Given the description of an element on the screen output the (x, y) to click on. 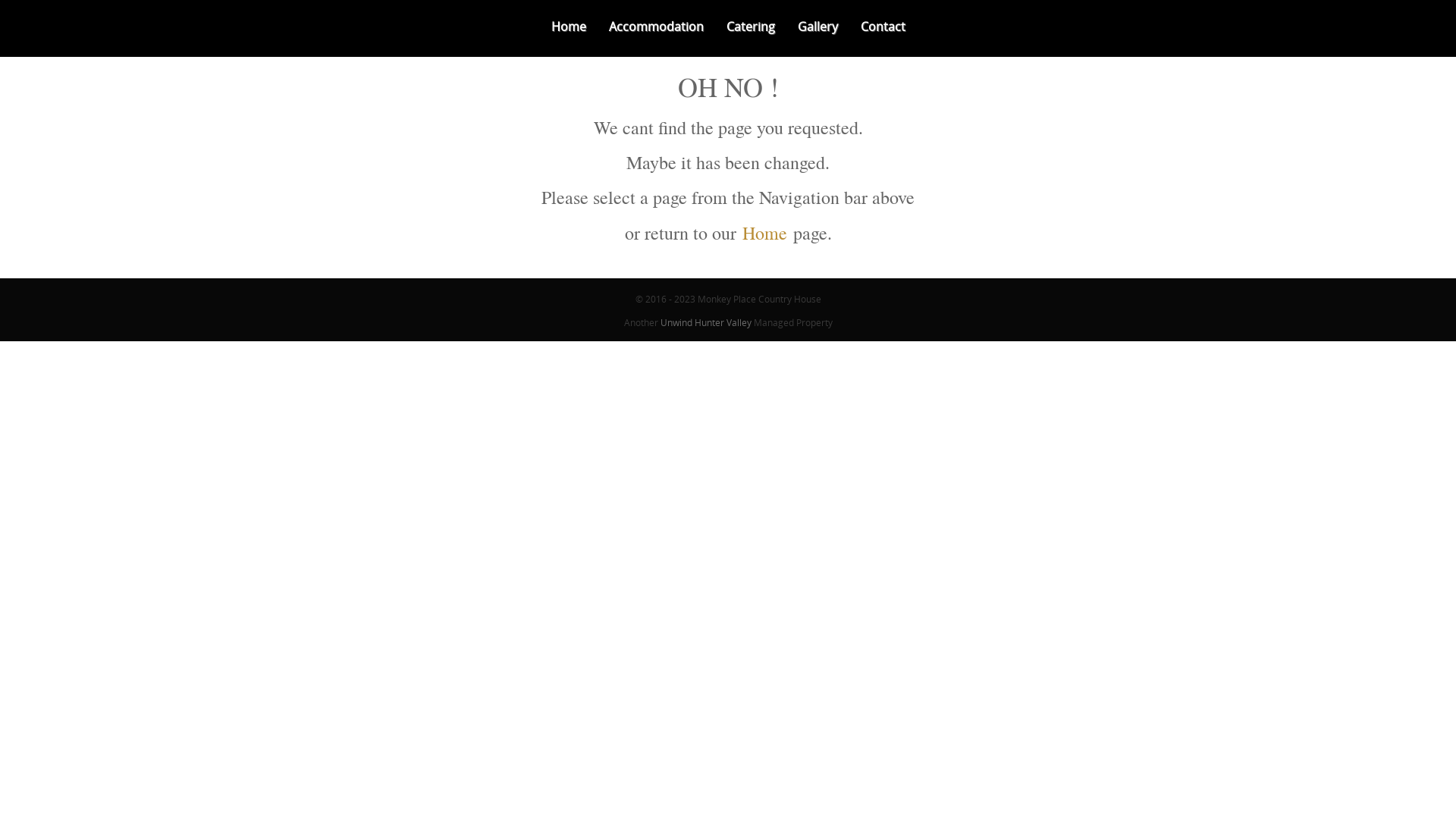
Gallery Element type: text (816, 26)
Home Element type: text (763, 232)
Home Element type: text (568, 26)
Unwind Hunter Valley Element type: text (704, 322)
Accommodation Element type: text (656, 26)
Catering Element type: text (749, 26)
Contact Element type: text (882, 26)
